Given the description of an element on the screen output the (x, y) to click on. 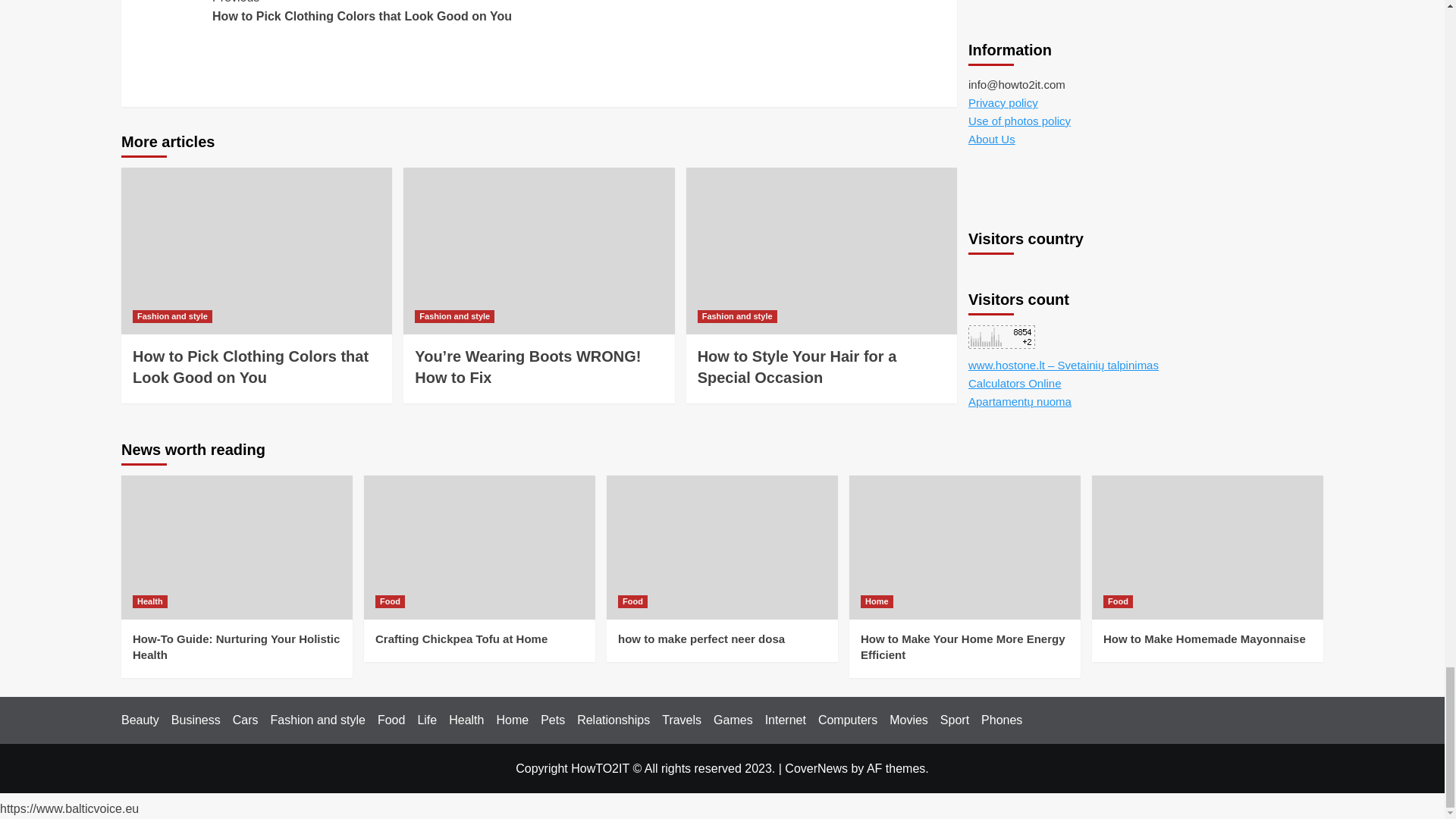
How to Style Your Hair for a Special Occasion (375, 13)
Fashion and style (796, 366)
Fashion and style (454, 316)
How to Pick Clothing Colors that Look Good on You (172, 316)
Fashion and style (250, 366)
